Given the description of an element on the screen output the (x, y) to click on. 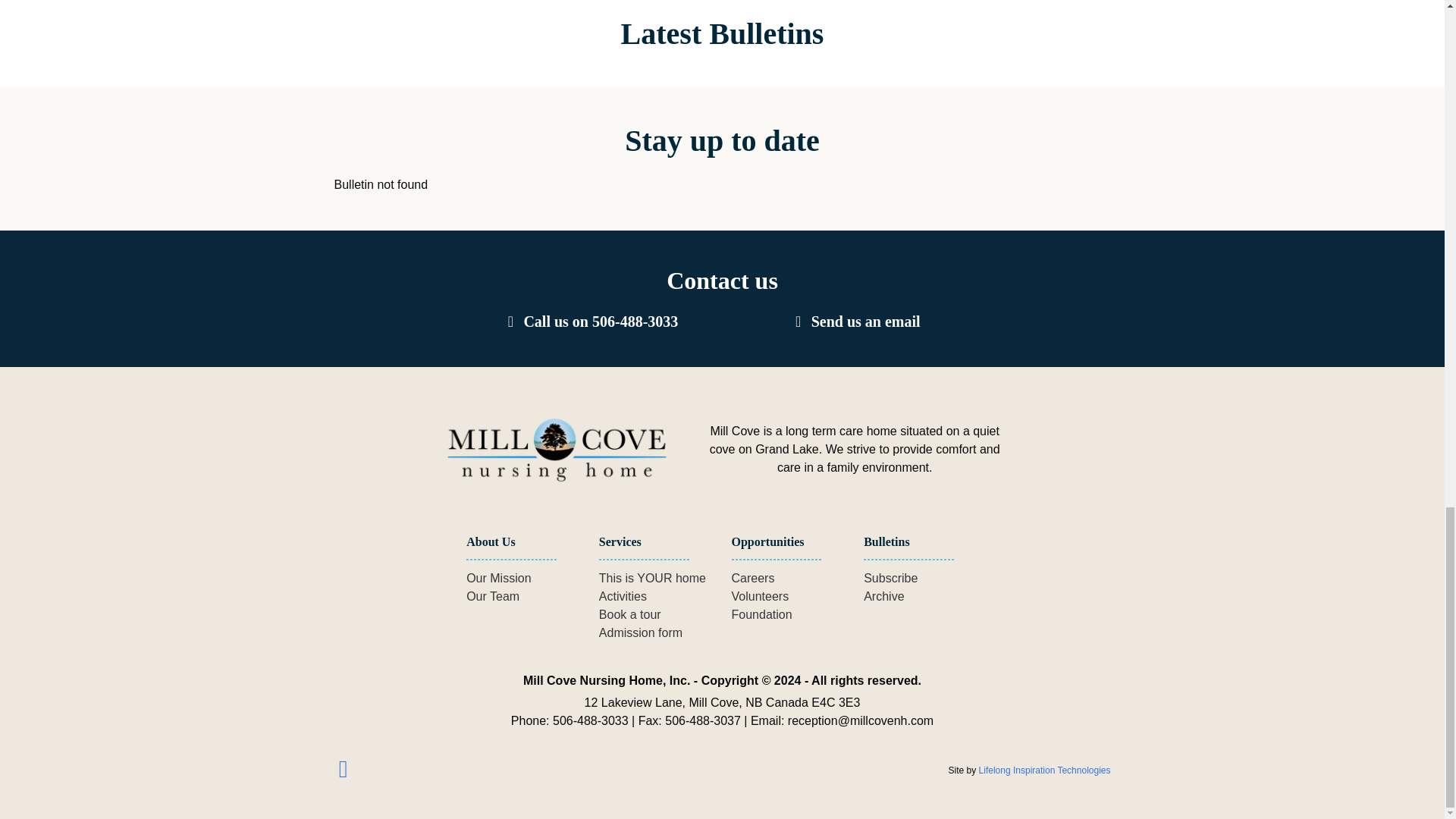
This is YOUR home (652, 577)
Services (620, 541)
506-488-3033 (635, 321)
Opportunities (768, 541)
Services (620, 541)
Volunteers (760, 595)
This is YOUR home (652, 577)
Our Team (492, 595)
Our Mission (498, 577)
Bulletins (885, 541)
Activities (622, 595)
Archive (883, 595)
Foundation (762, 614)
Book a tour (629, 614)
Admission form (640, 632)
